Given the description of an element on the screen output the (x, y) to click on. 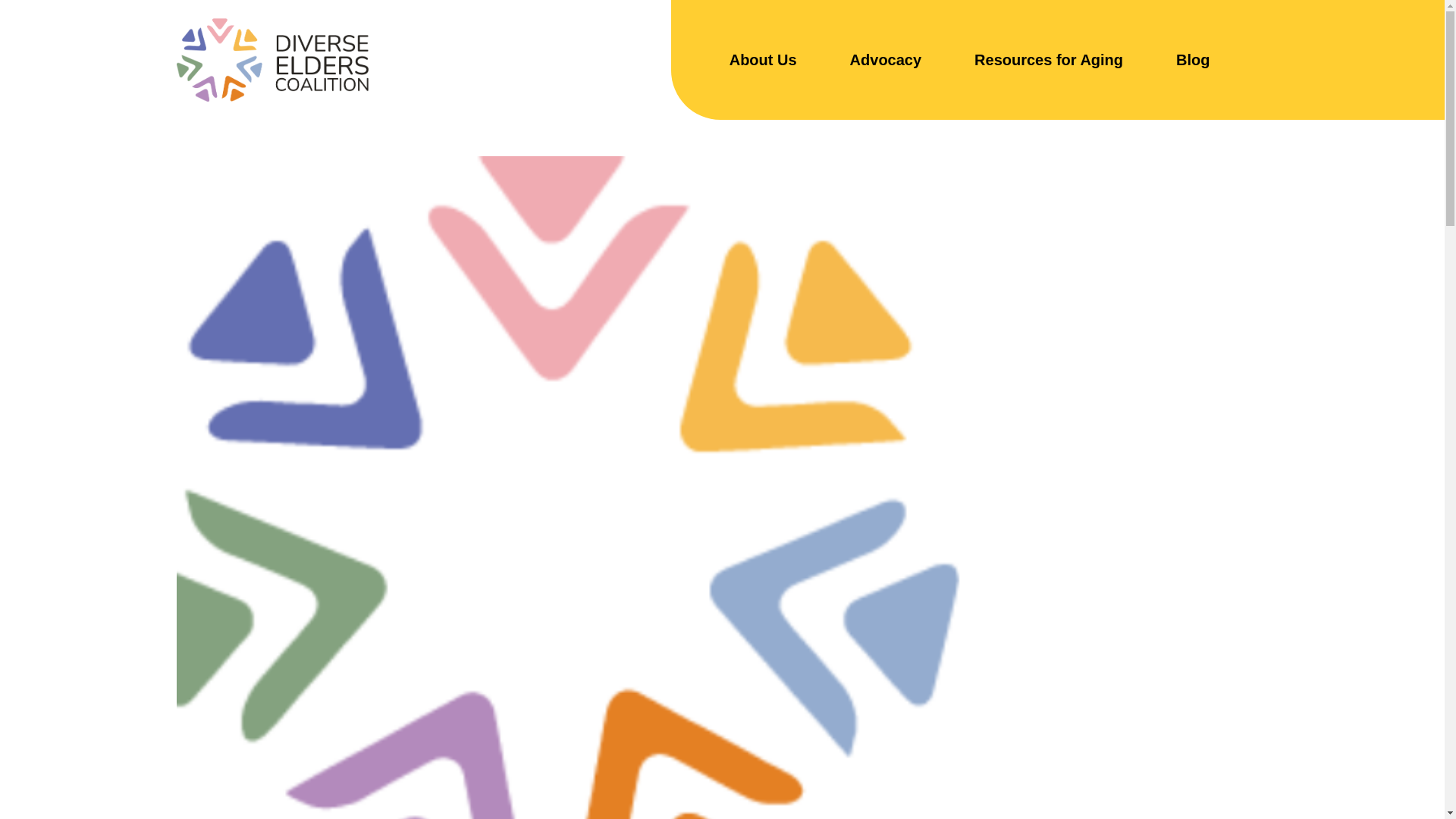
Advocacy (885, 59)
Blog (1192, 59)
Resources for Aging (1048, 59)
About Us (762, 59)
